Given the description of an element on the screen output the (x, y) to click on. 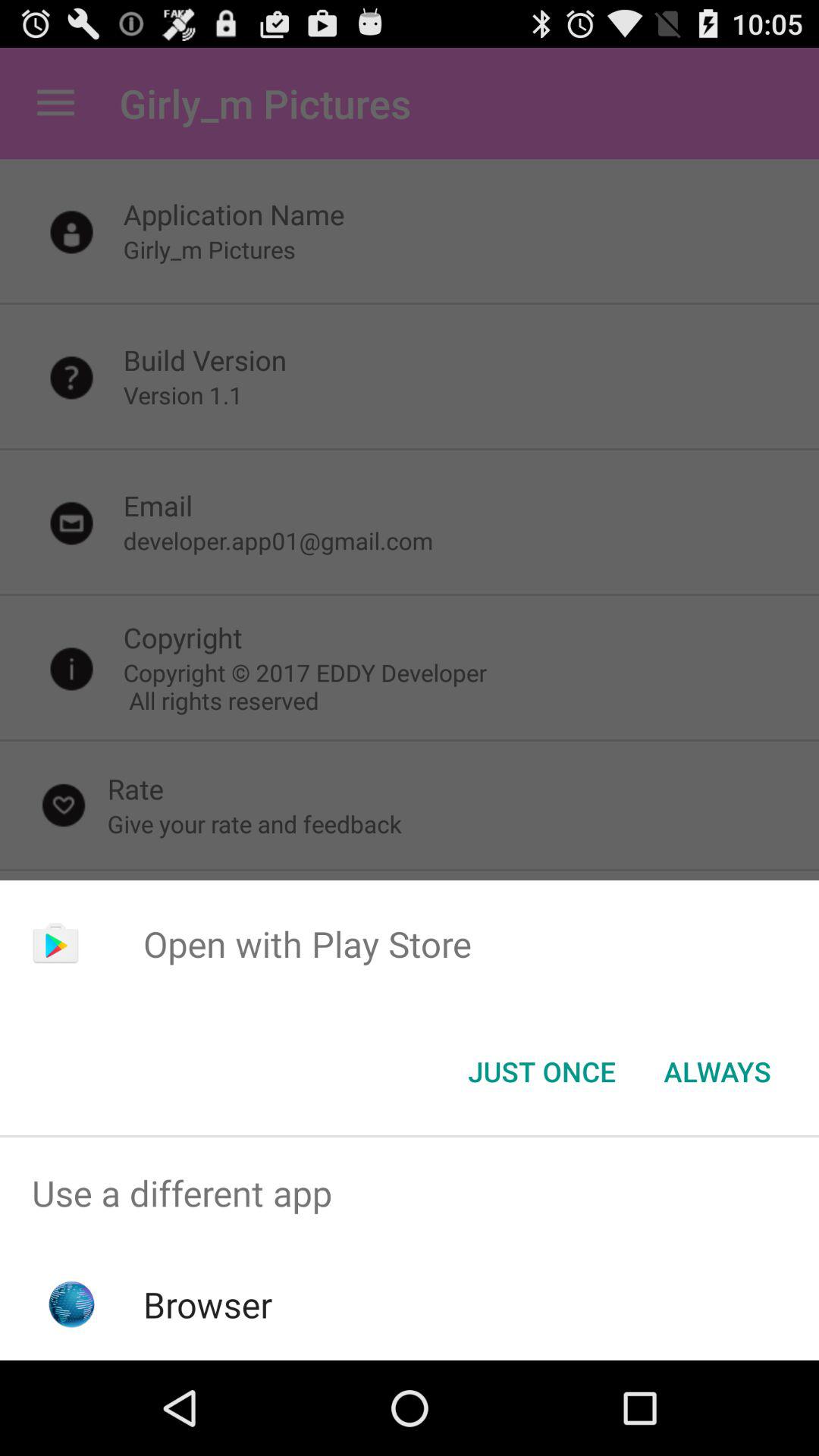
click the icon above the browser app (409, 1192)
